Given the description of an element on the screen output the (x, y) to click on. 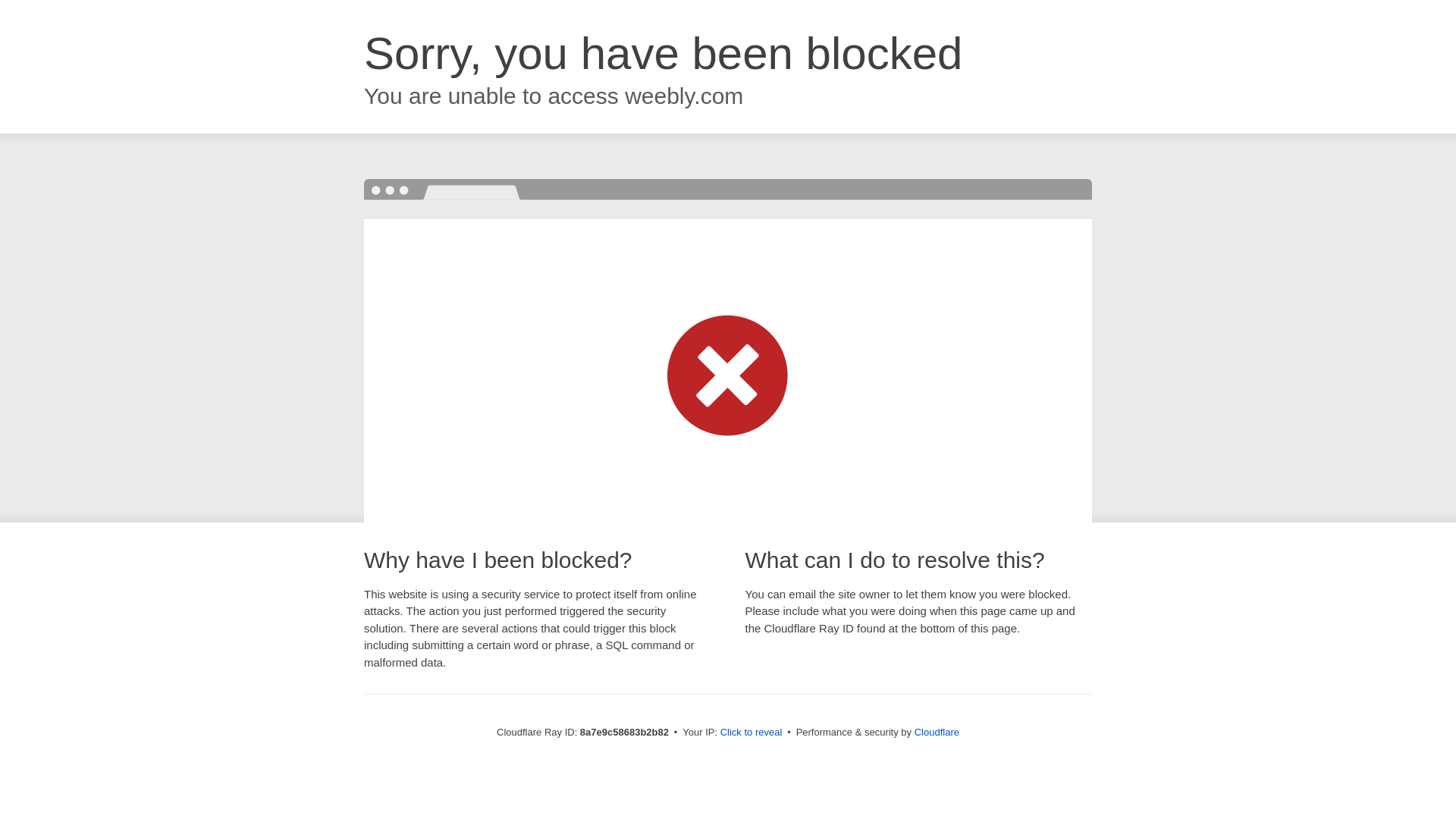
Click to reveal (751, 732)
Cloudflare (936, 731)
